Given the description of an element on the screen output the (x, y) to click on. 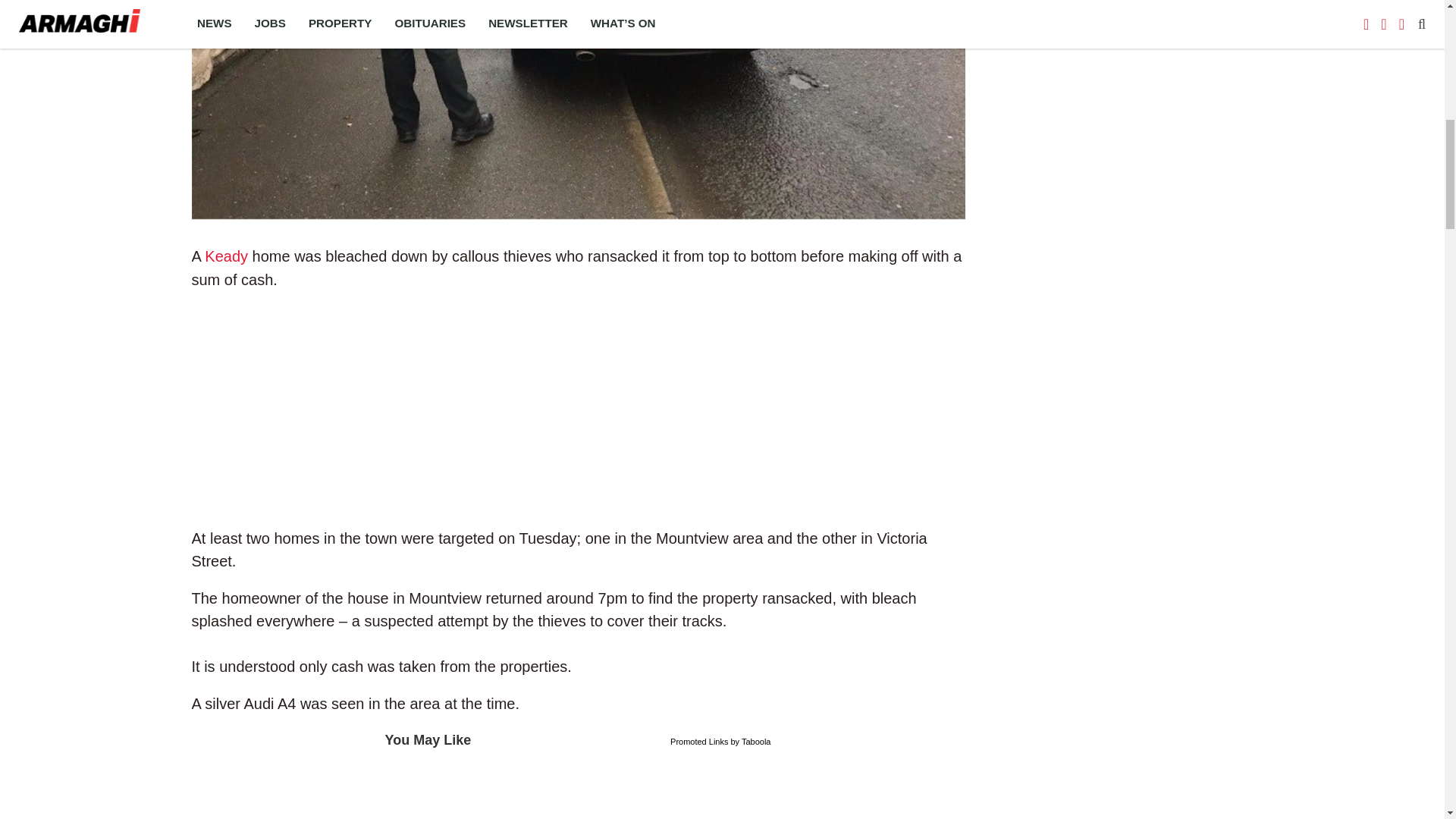
3rd party ad content (577, 408)
